Given the description of an element on the screen output the (x, y) to click on. 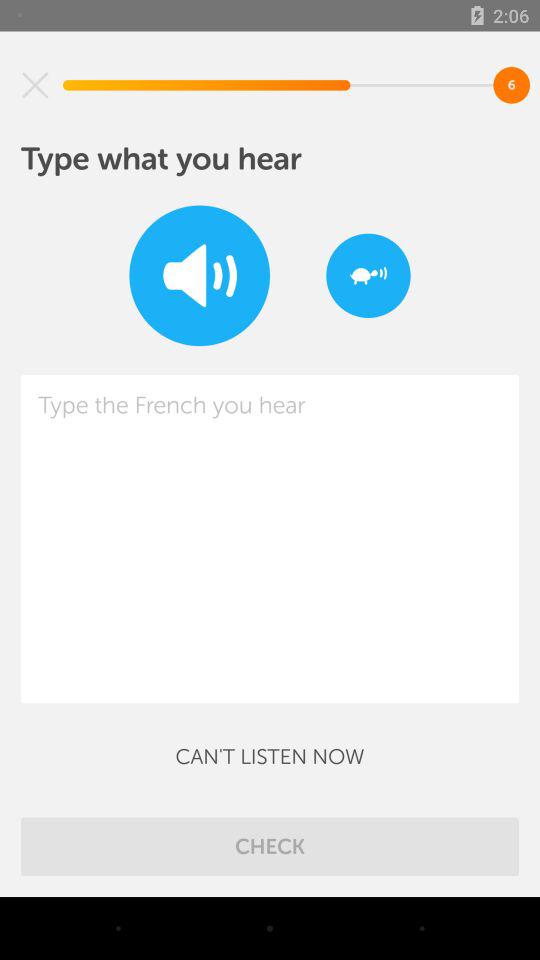
open the item above type what you icon (35, 85)
